Given the description of an element on the screen output the (x, y) to click on. 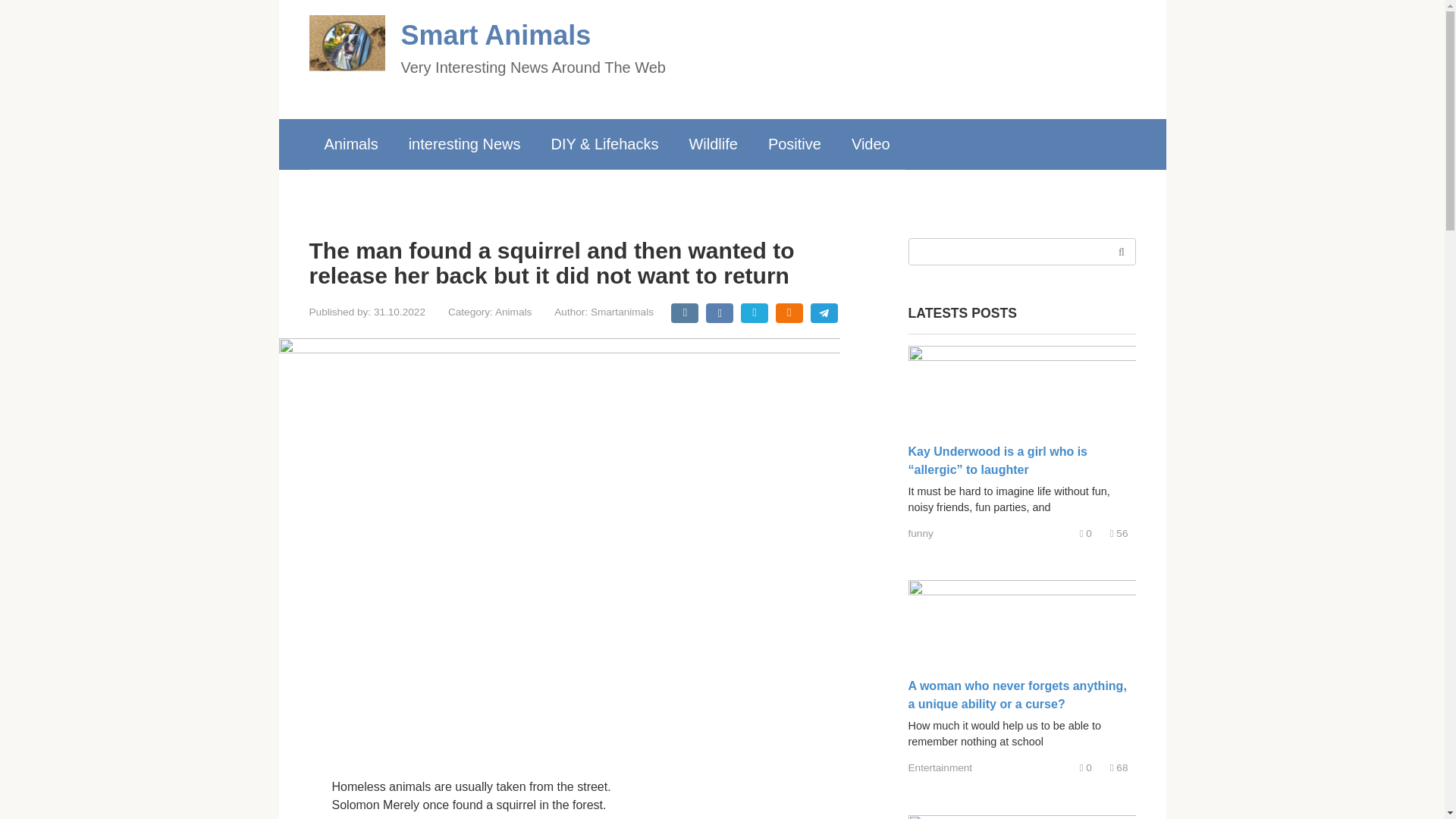
Animals (513, 311)
Smart Animals (495, 34)
Video (870, 143)
Positive (793, 143)
Animals (350, 143)
Comments (1086, 767)
Entertainment (940, 767)
Comments (1086, 532)
interesting News (464, 143)
